Given the description of an element on the screen output the (x, y) to click on. 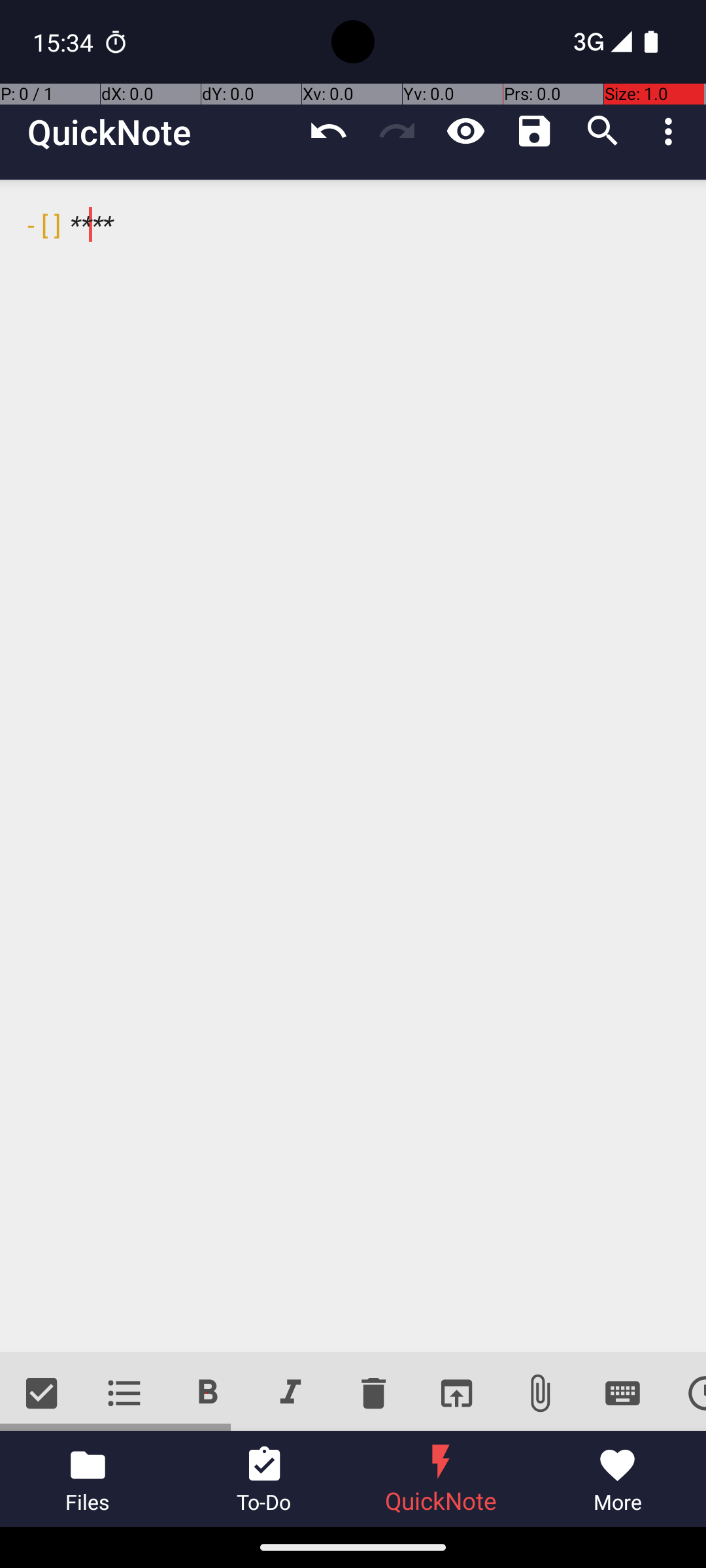
- [ ] **** Element type: android.widget.EditText (353, 765)
